Given the description of an element on the screen output the (x, y) to click on. 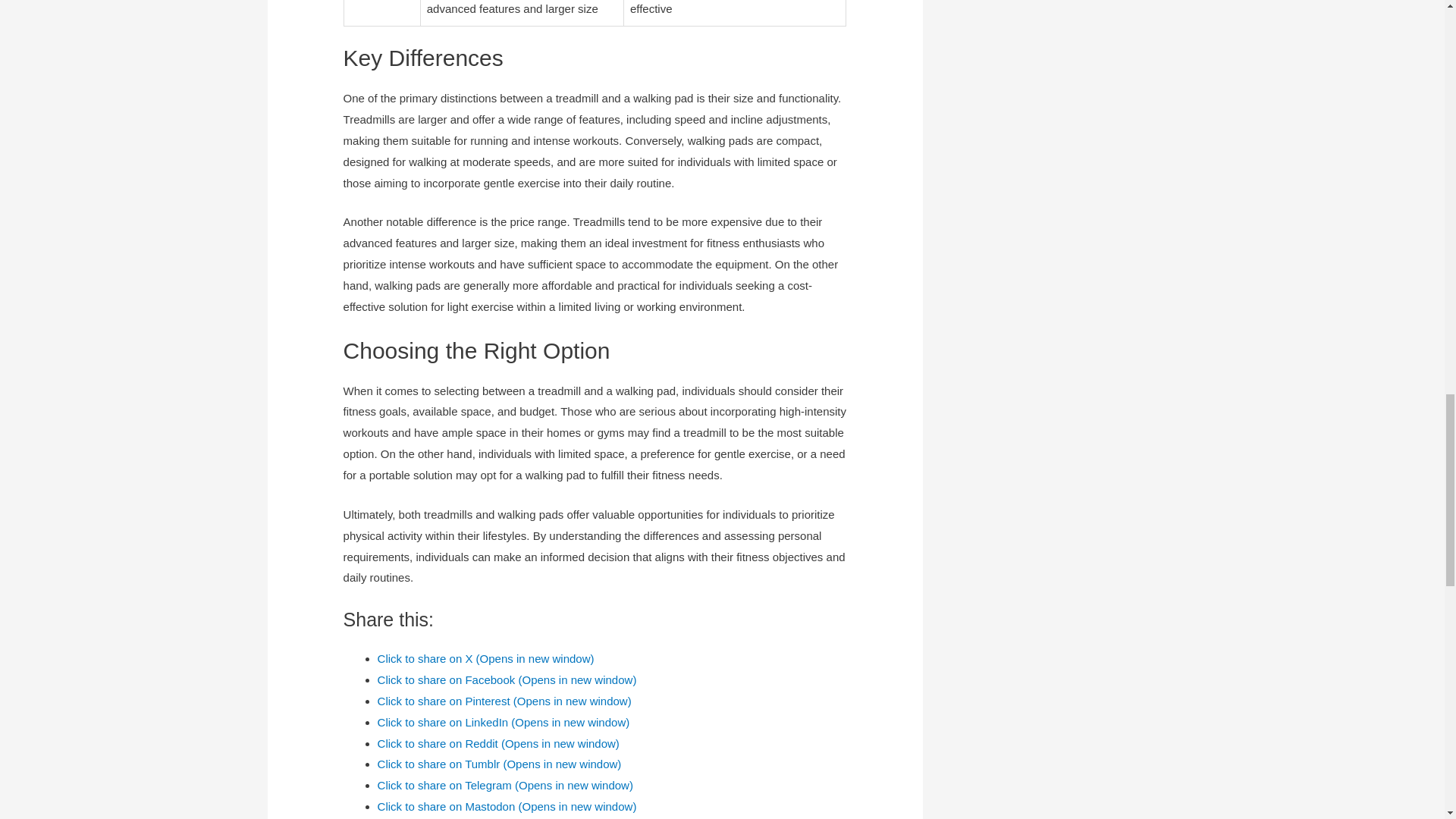
Click to share on Pinterest (504, 700)
Click to share on LinkedIn (503, 721)
Click to share on Telegram (505, 784)
Click to share on X (485, 658)
Click to share on Facebook (507, 679)
Click to share on Reddit (498, 743)
Click to share on Tumblr (499, 763)
Click to share on Mastodon (507, 806)
